Given the description of an element on the screen output the (x, y) to click on. 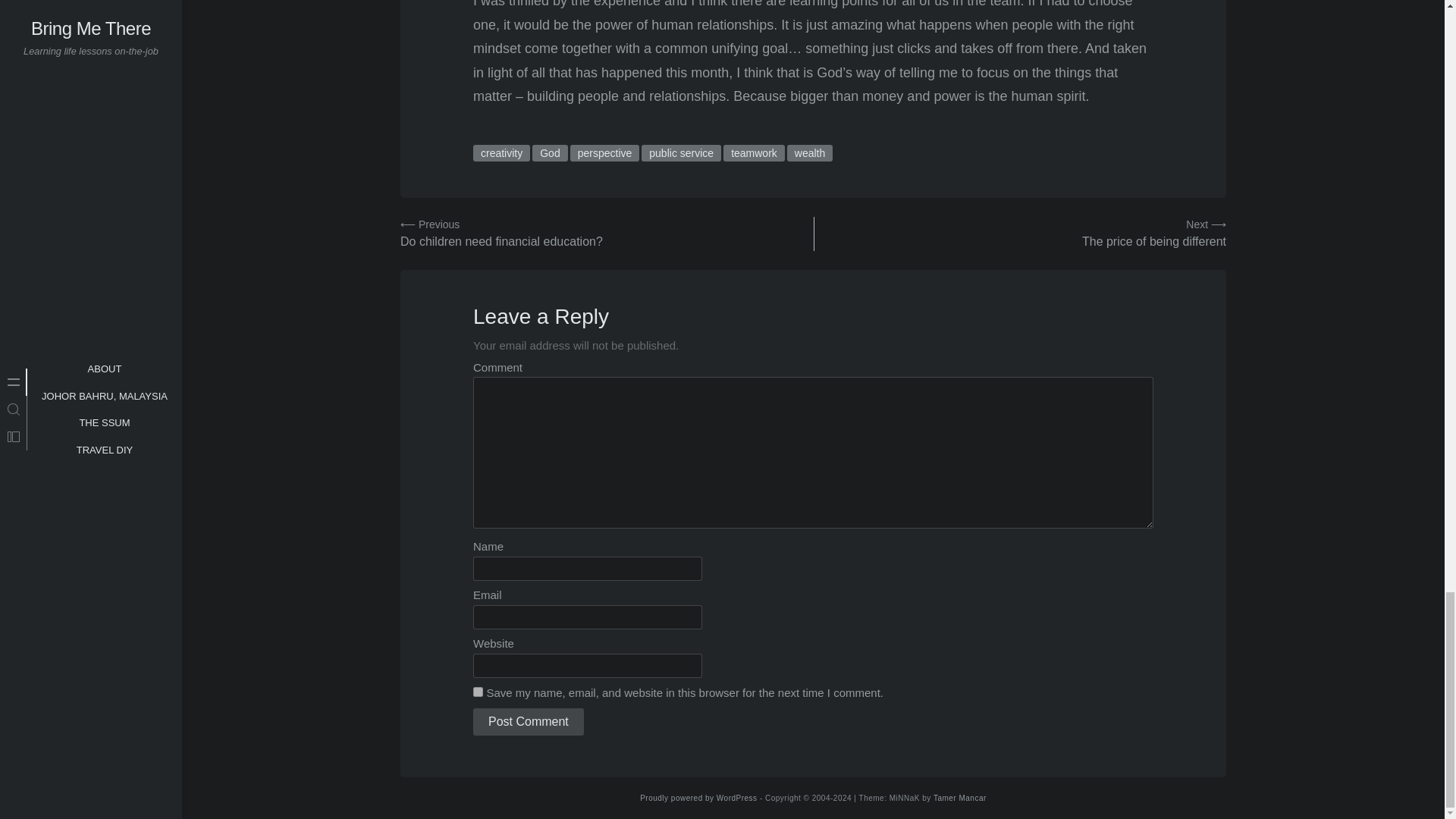
Post Comment (528, 721)
yes (478, 691)
